Given the description of an element on the screen output the (x, y) to click on. 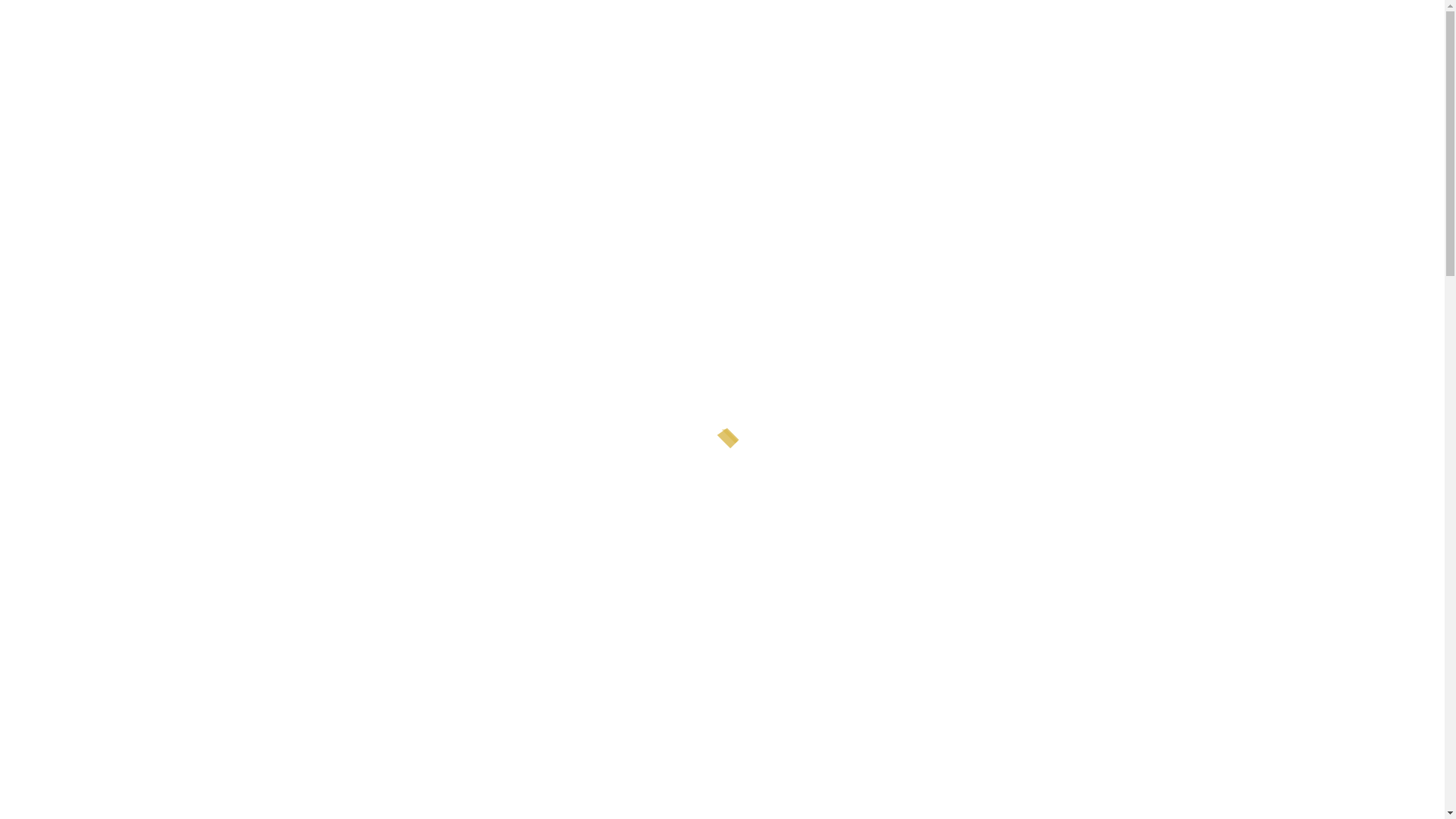
SPECIAL Element type: text (386, 176)
RIVER DOCK Element type: text (96, 176)
BS Element type: text (49, 80)
GASTRONOMIJA Element type: text (181, 176)
EN Element type: text (49, 102)
Restoran River Dock Element type: hover (727, 230)
ZAPOSLENJE Element type: text (600, 176)
AKTIVNOSTI Element type: text (319, 176)
REZERVIRAJ Element type: text (522, 176)
EVENTI Element type: text (255, 176)
Hotel Emporium Element type: hover (728, 108)
HOTEL Element type: text (32, 176)
